Given the description of an element on the screen output the (x, y) to click on. 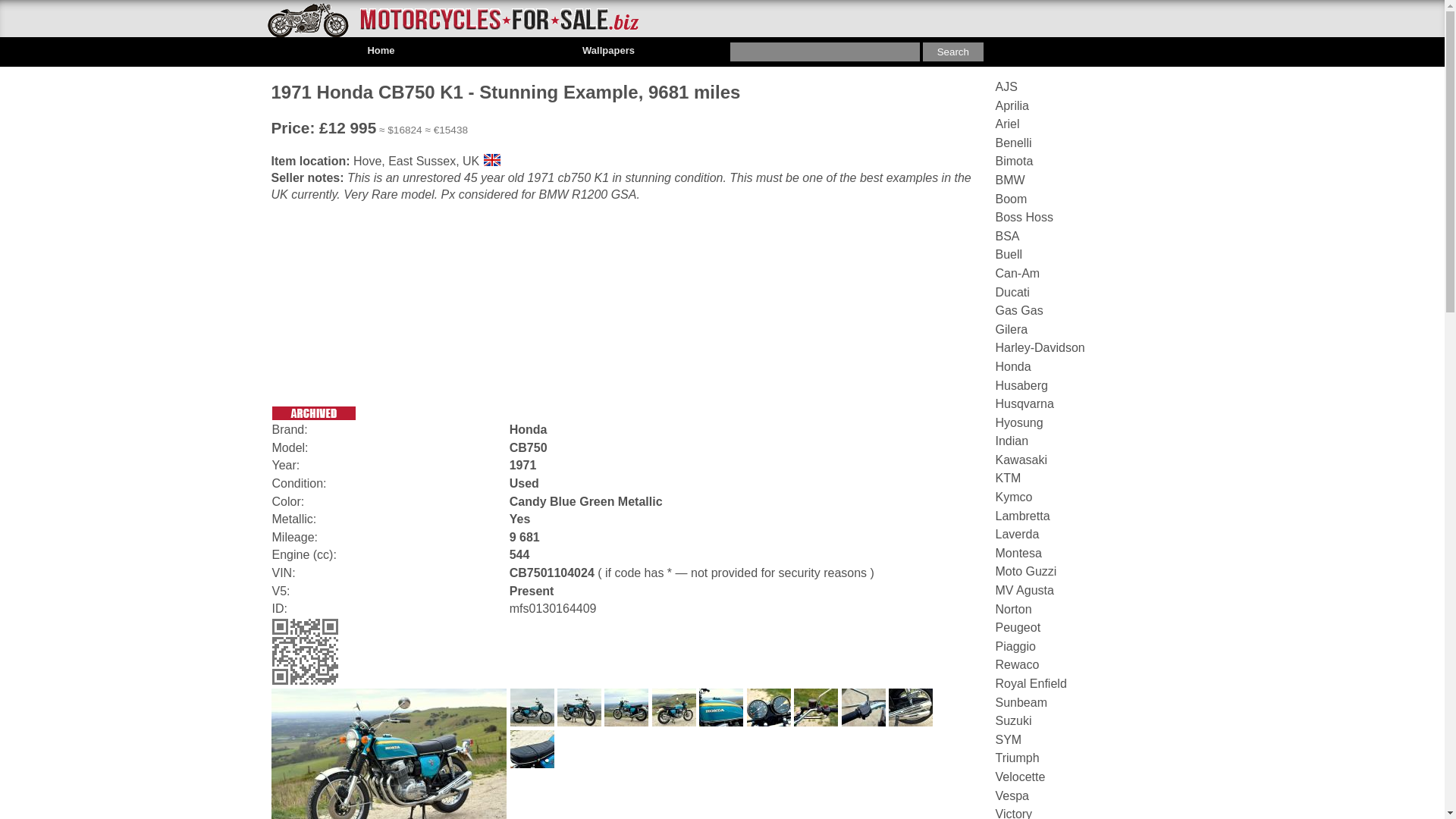
Buell (1008, 254)
Motorcycles-for-sale.biz (452, 19)
Boom (1010, 198)
Home (380, 50)
BMW (1009, 179)
AJS (1005, 86)
Benelli (1012, 142)
BSA (1006, 236)
For example - Ducati 1098 (825, 51)
